Given the description of an element on the screen output the (x, y) to click on. 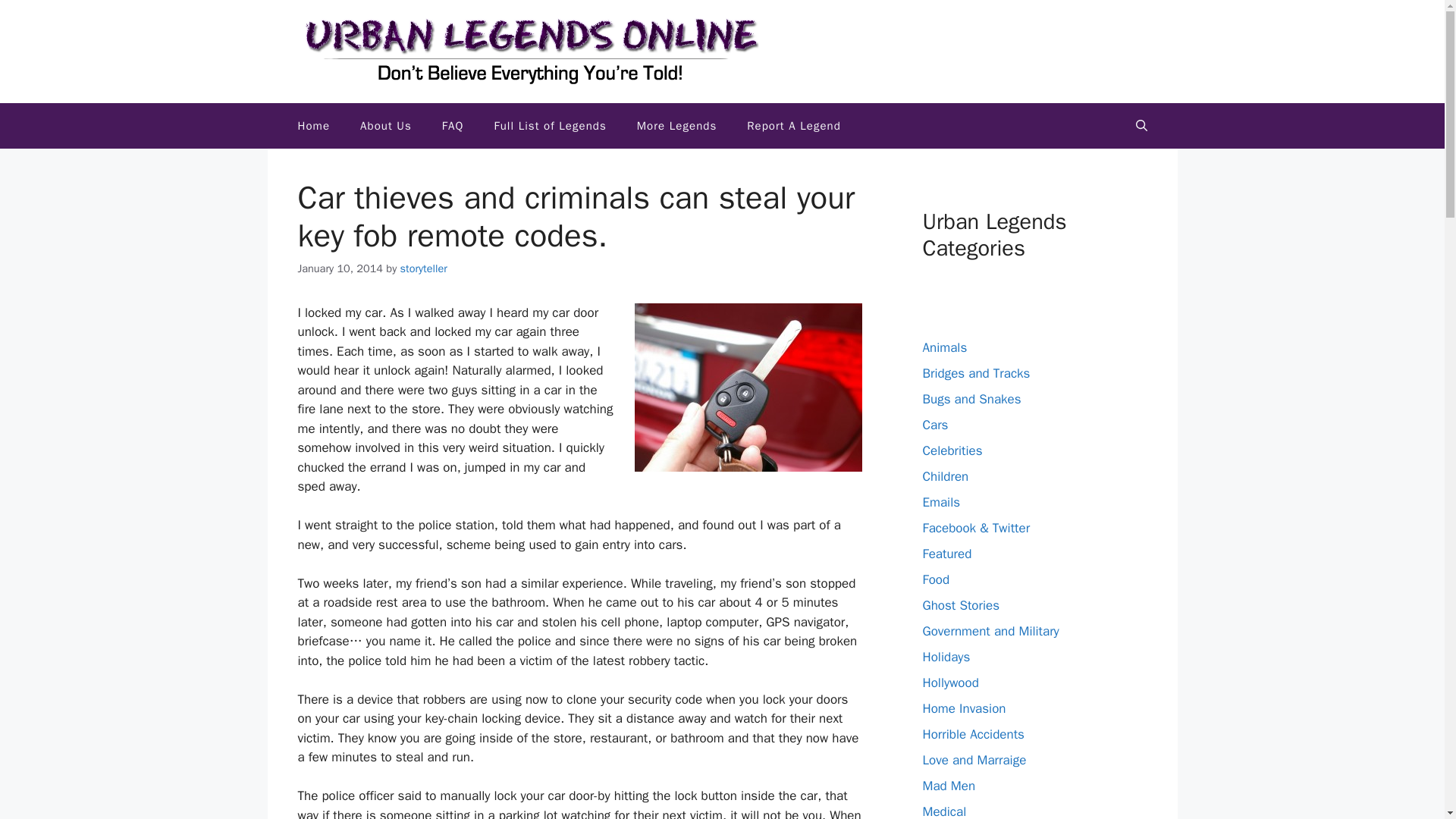
Holidays (945, 657)
More Legends (676, 125)
Scary Urban Legends, Myths and Hoaxes   (313, 125)
Report A Legend (794, 125)
Emails (940, 502)
Bugs and Snakes (970, 399)
Government and Military (989, 631)
Children (944, 476)
Full List of Legends (550, 125)
Food (935, 579)
